Given the description of an element on the screen output the (x, y) to click on. 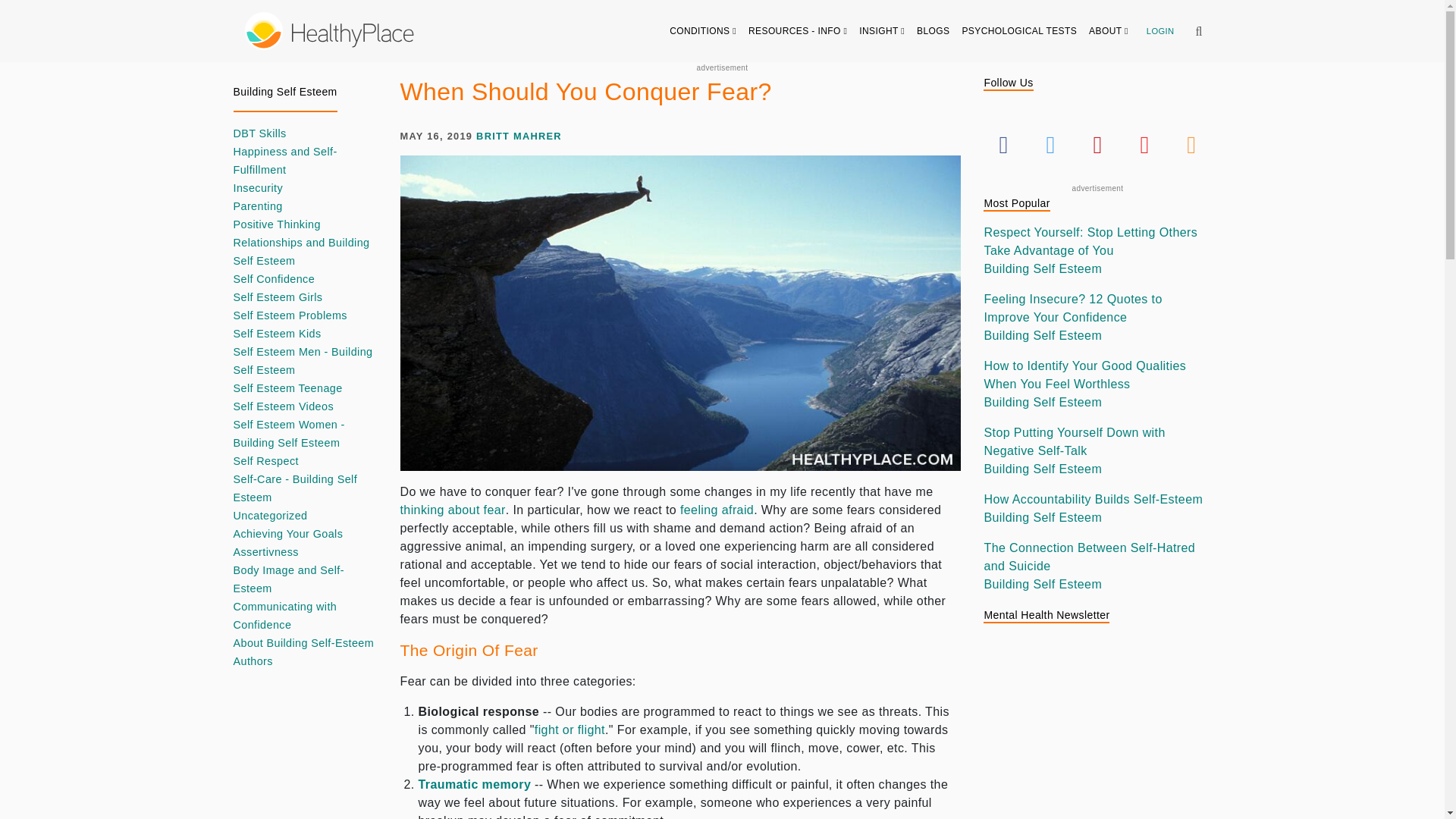
RESOURCES - INFO (797, 31)
Ten Ways to Live Free From Fear (452, 509)
Unwanted Trauma Memories - How Do You Get Rid of Them? (475, 784)
CONDITIONS (702, 31)
The Biology of Fear (569, 729)
INSIGHT (882, 31)
